Given the description of an element on the screen output the (x, y) to click on. 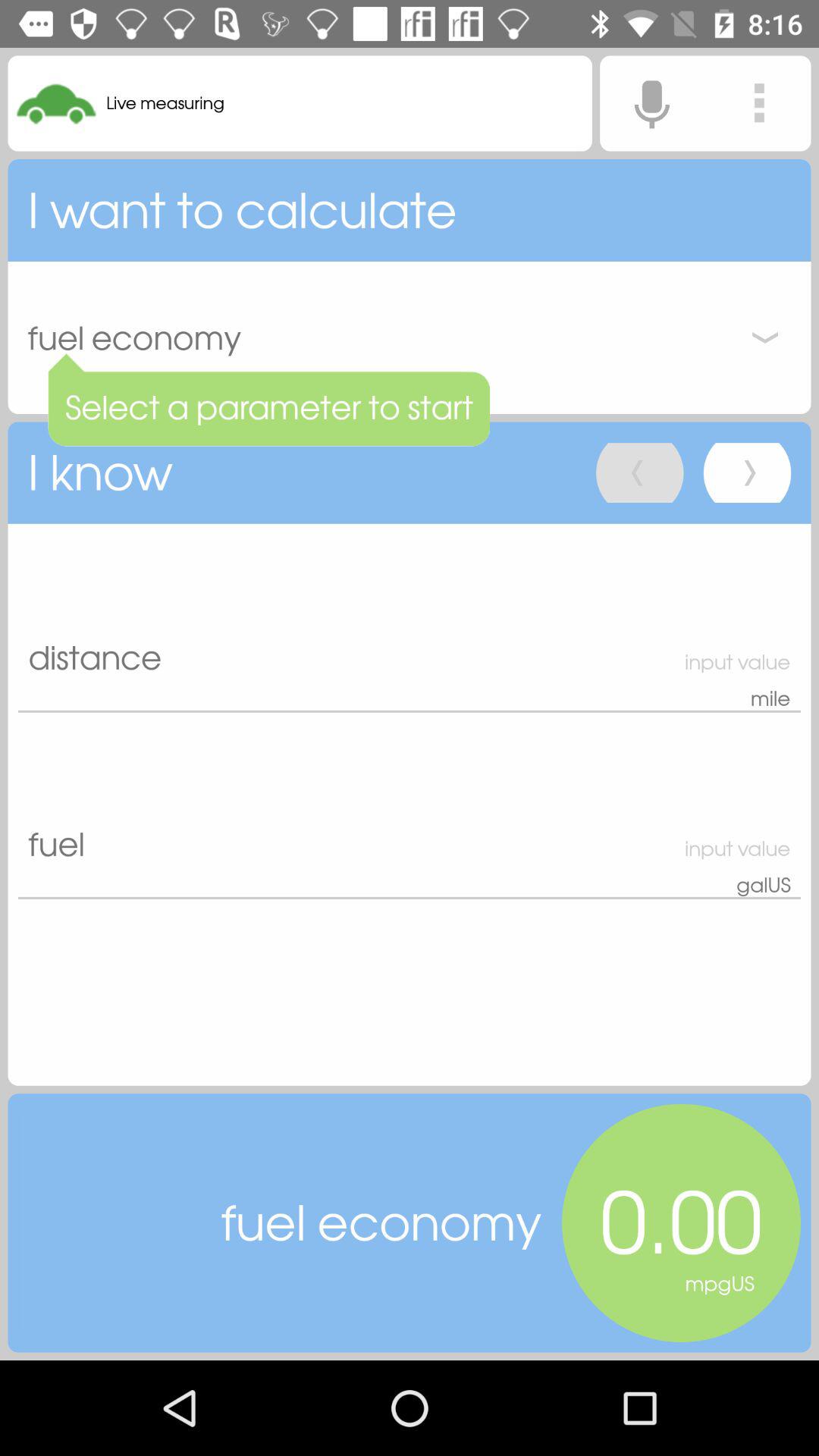
next (747, 472)
